Given the description of an element on the screen output the (x, y) to click on. 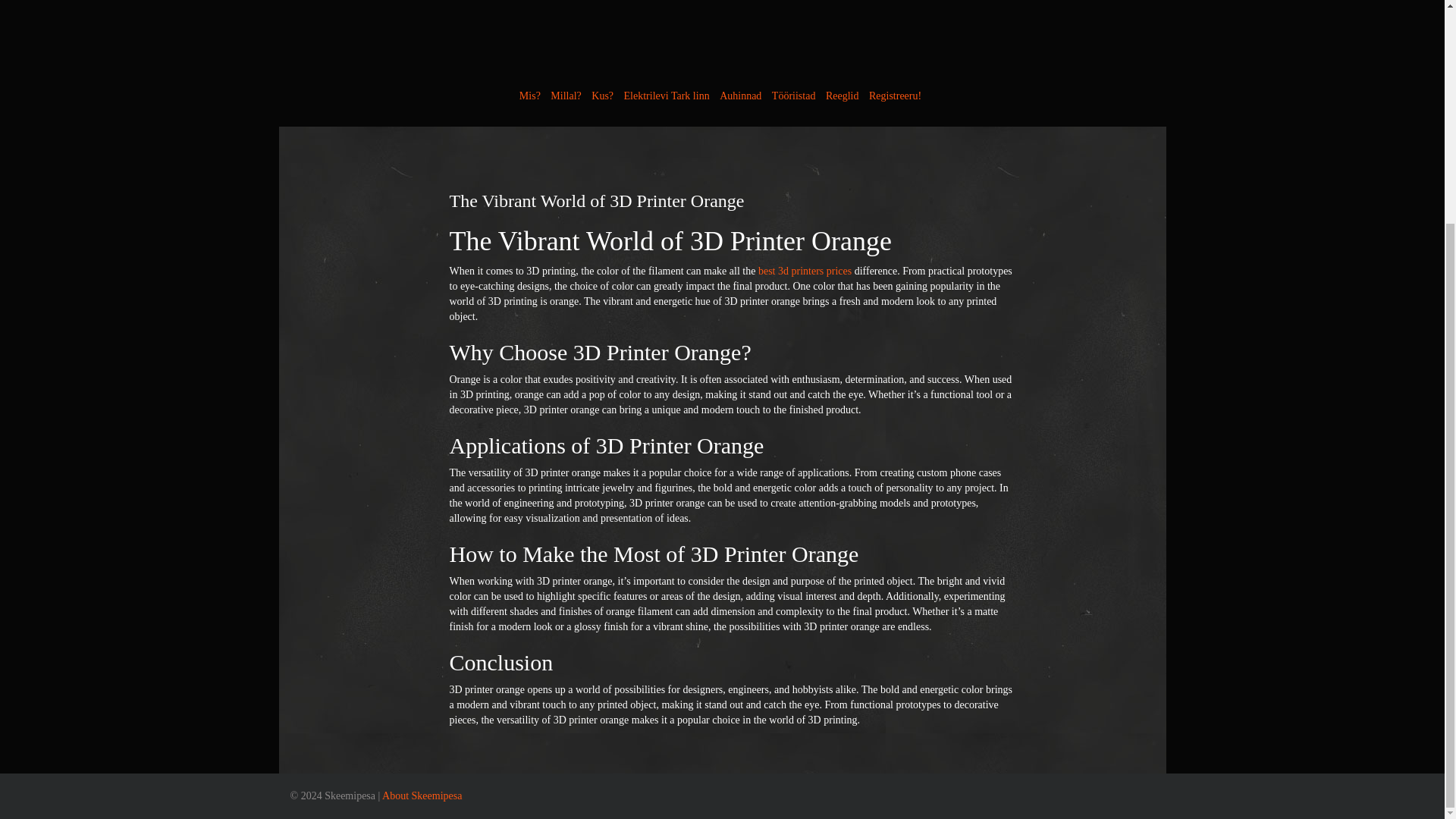
best 3d printers prices (804, 270)
Mis? (529, 95)
Registreeru! (895, 95)
Elektrilevi Tark linn (667, 95)
Kus? (601, 95)
About Skeemipesa (421, 795)
Auhinnad (740, 95)
Auhinnad (740, 95)
Reeglid (842, 95)
Elektrilevi Tark linn (667, 95)
Mis? (529, 95)
Kus? (601, 95)
Millal? (565, 95)
Reeglid (842, 95)
Millal? (565, 95)
